Given the description of an element on the screen output the (x, y) to click on. 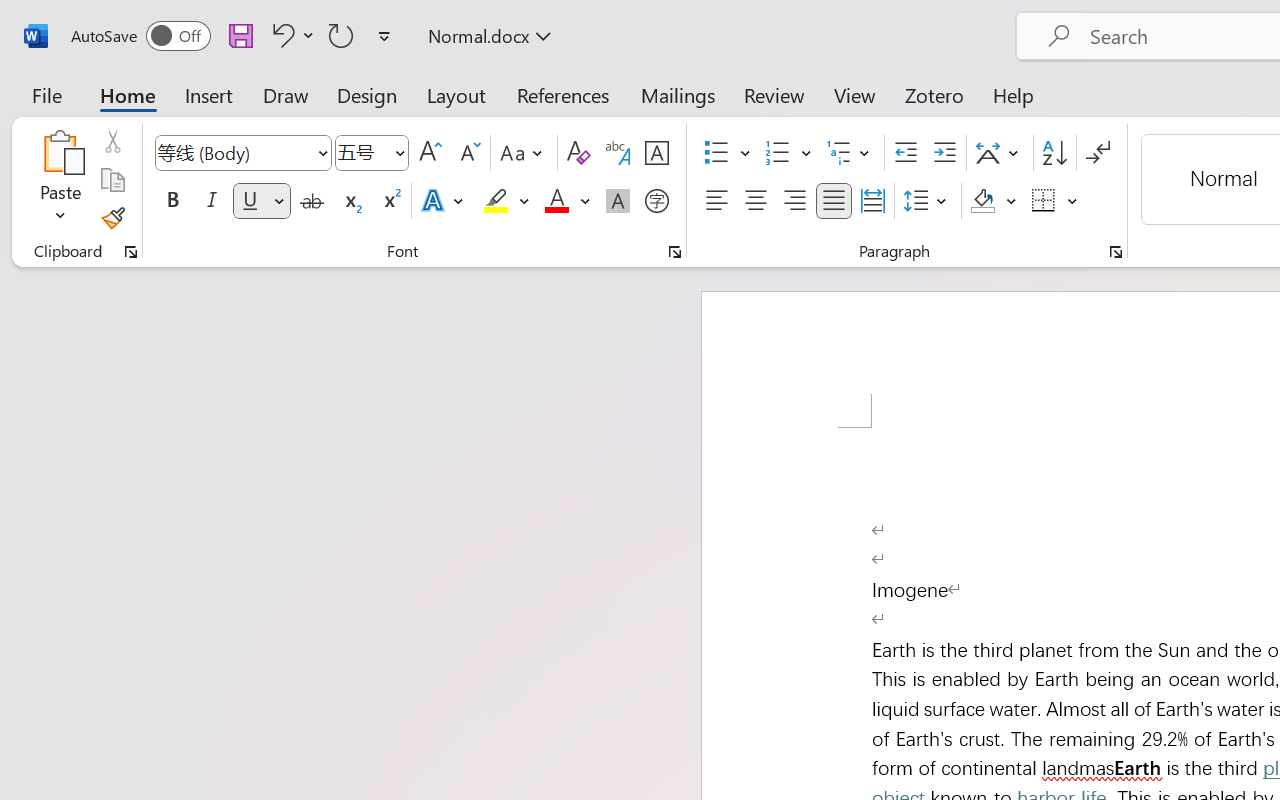
Superscript (390, 201)
